Given the description of an element on the screen output the (x, y) to click on. 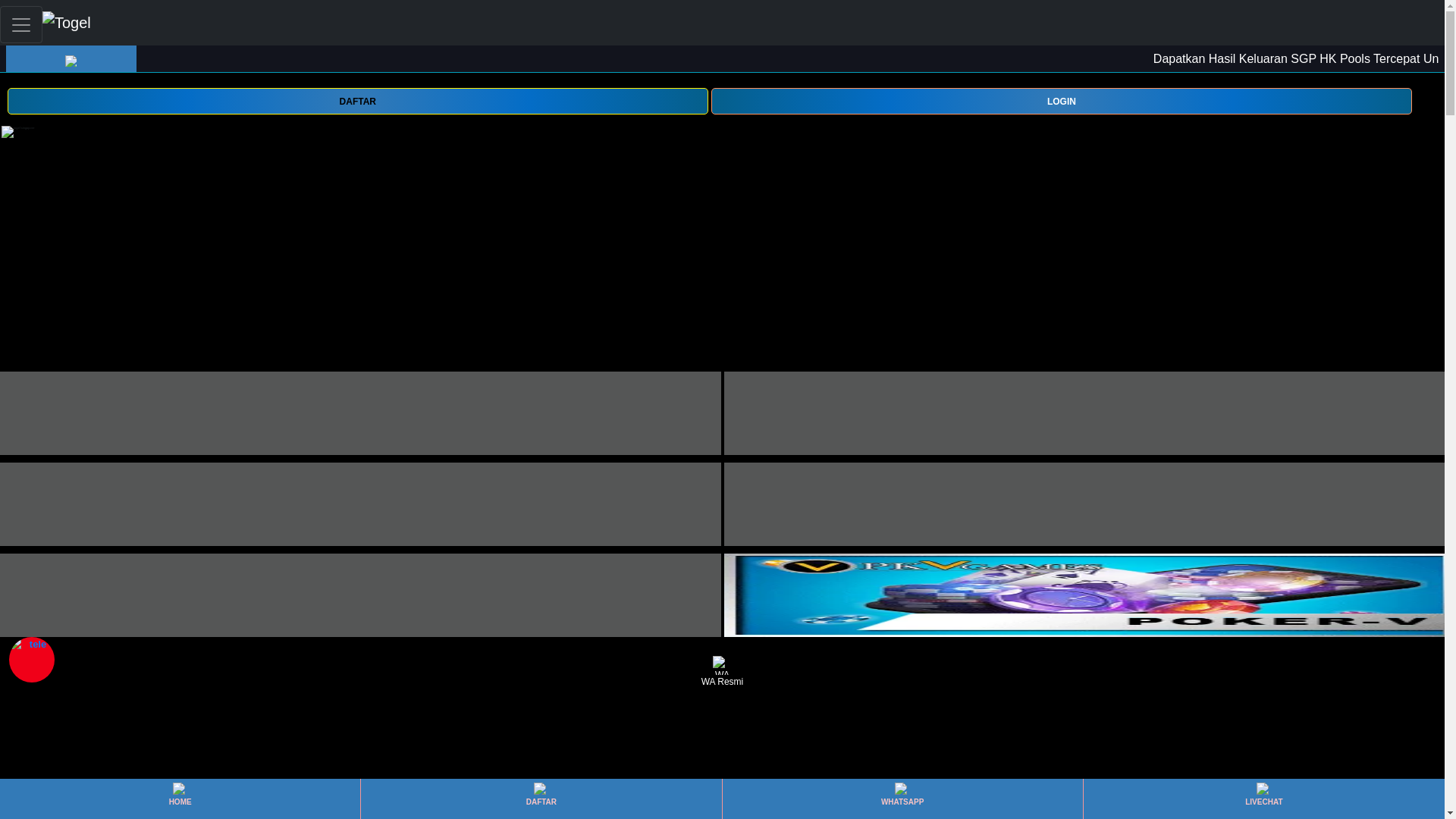
DAFTAR (540, 798)
WA Resmi (722, 672)
LIVECHAT (1263, 798)
DAFTAR (357, 100)
LOGIN (1061, 100)
WHATSAPP (901, 798)
HOME (179, 798)
LOGIN (1061, 100)
DAFTAR (357, 100)
